Given the description of an element on the screen output the (x, y) to click on. 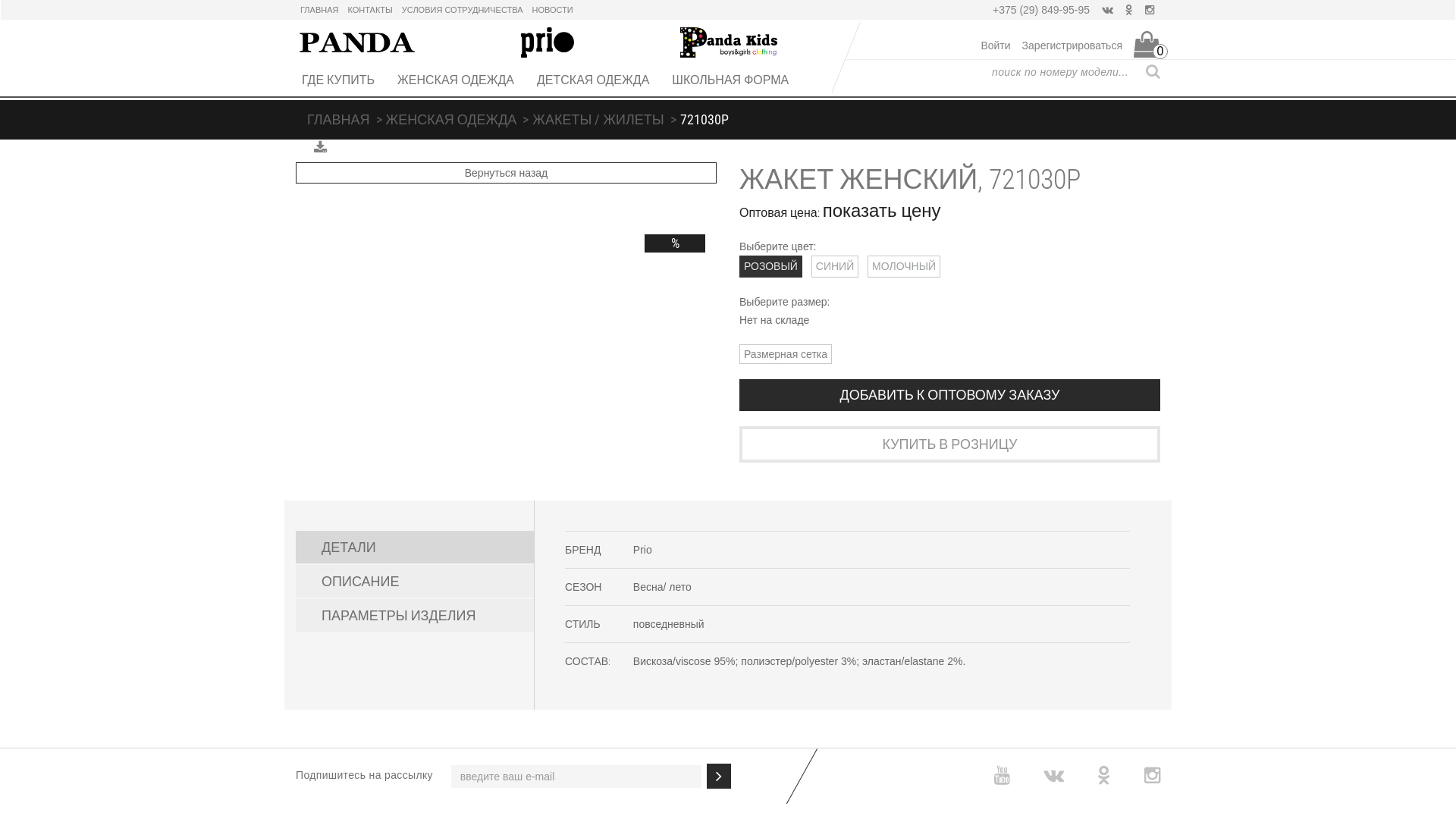
0 Element type: text (1146, 43)
+375 (29) 849-95-95 Element type: text (1040, 9)
YouTube Element type: hover (1002, 774)
Instagram Element type: hover (1149, 9)
Instagram Element type: hover (1152, 774)
